Given the description of an element on the screen output the (x, y) to click on. 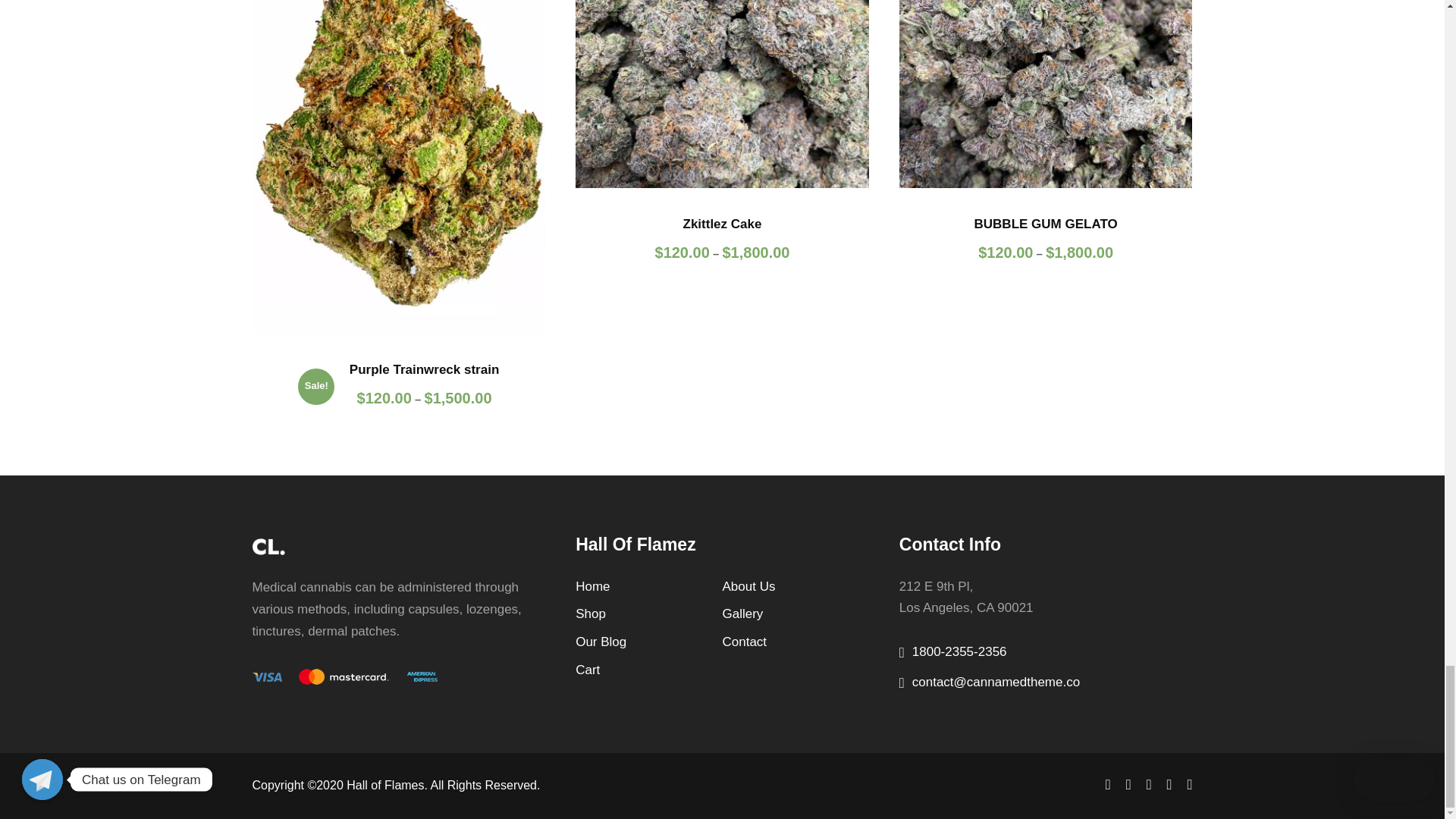
Purple Trainwreck strain (397, 166)
